Given the description of an element on the screen output the (x, y) to click on. 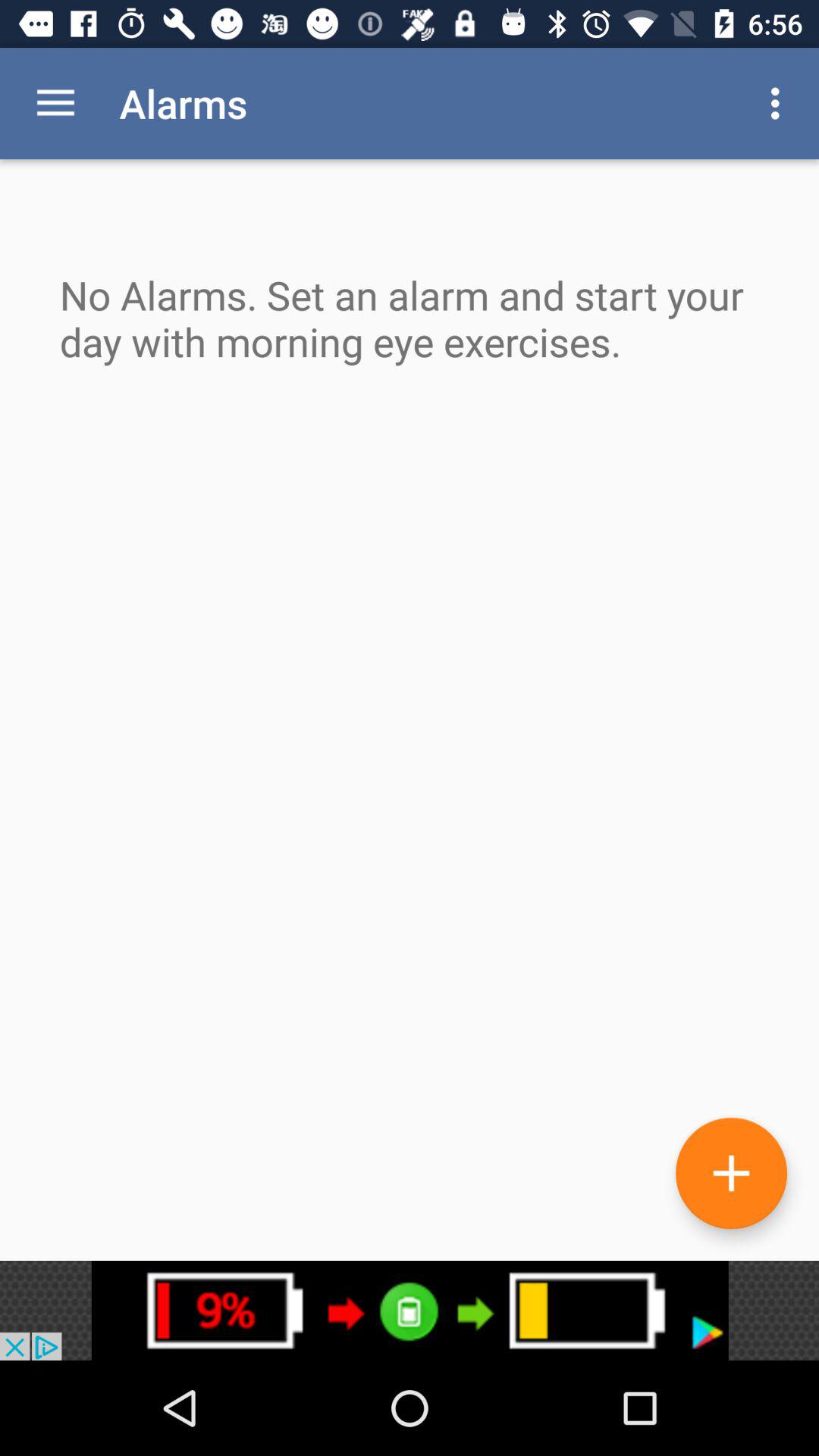
add alarm (731, 1173)
